Given the description of an element on the screen output the (x, y) to click on. 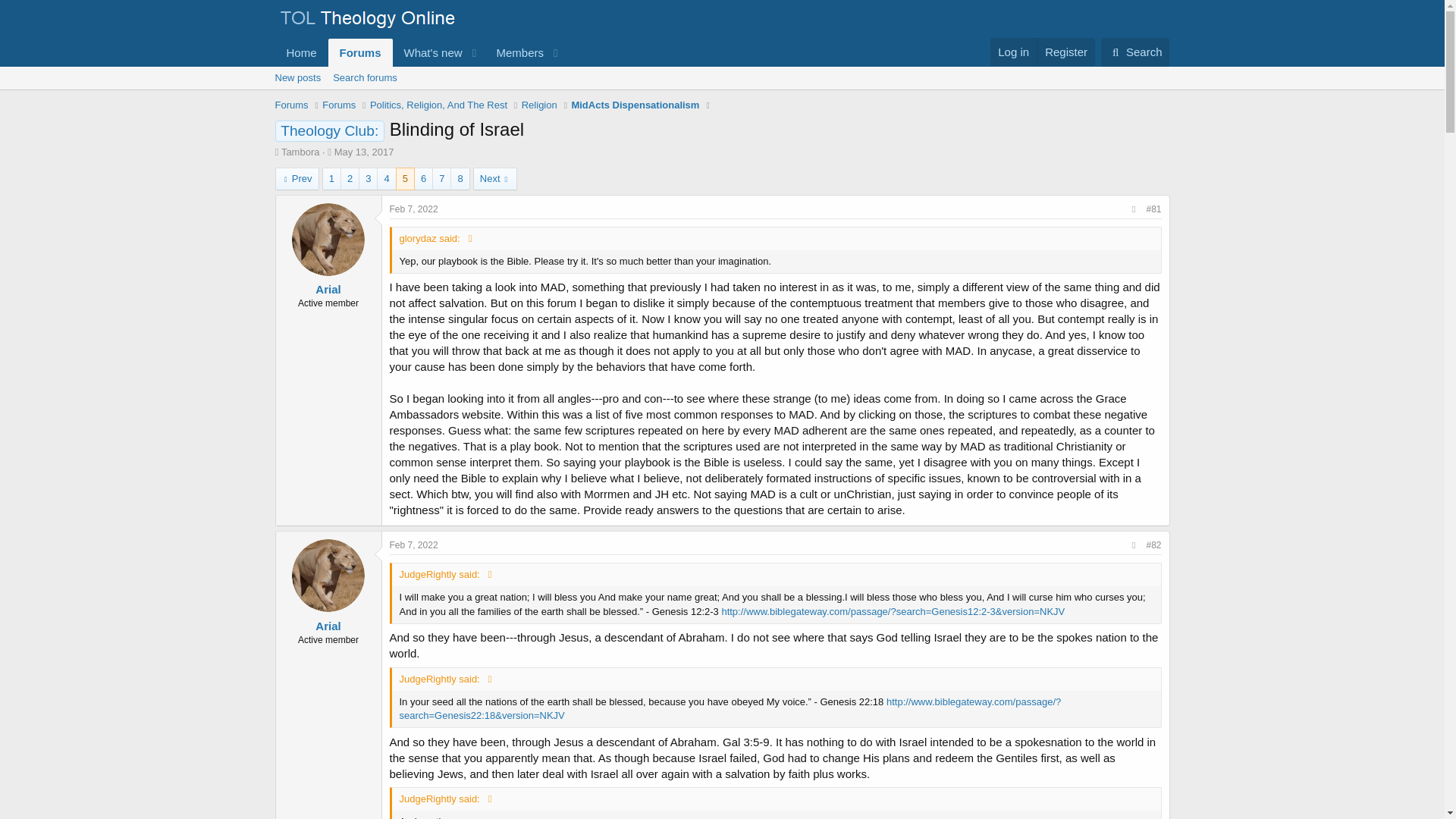
Home (301, 52)
Search (1135, 51)
Register (1065, 51)
Search forums (364, 77)
MidActs Dispensationalism (634, 105)
Forums (338, 105)
Politics, Religion, And The Rest (437, 105)
What's new (428, 52)
May 13, 2017 at 9:28 PM (364, 152)
Feb 7, 2022 at 11:42 AM (414, 208)
